Given the description of an element on the screen output the (x, y) to click on. 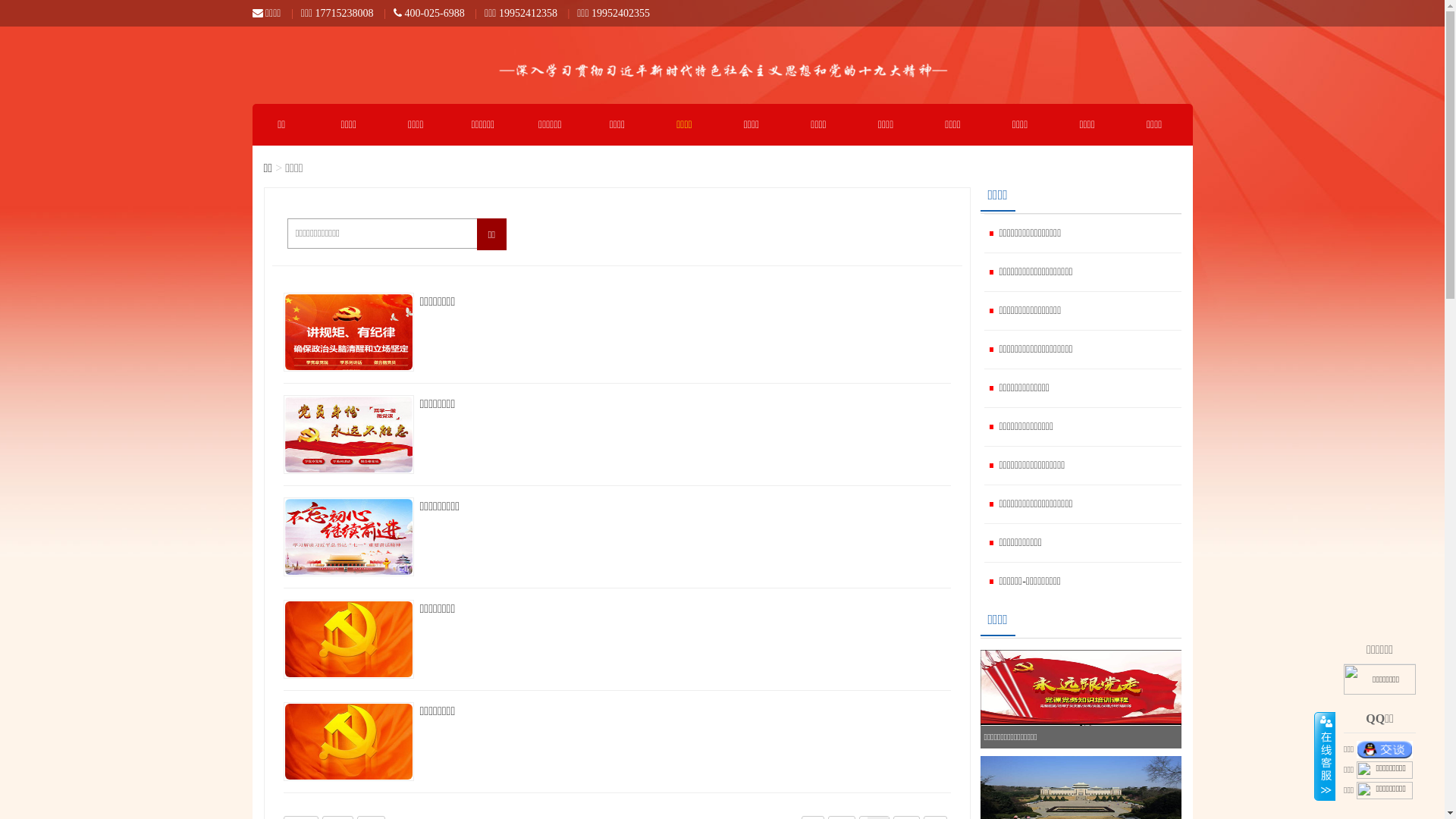
400-025-6988 Element type: text (428, 12)
